Given the description of an element on the screen output the (x, y) to click on. 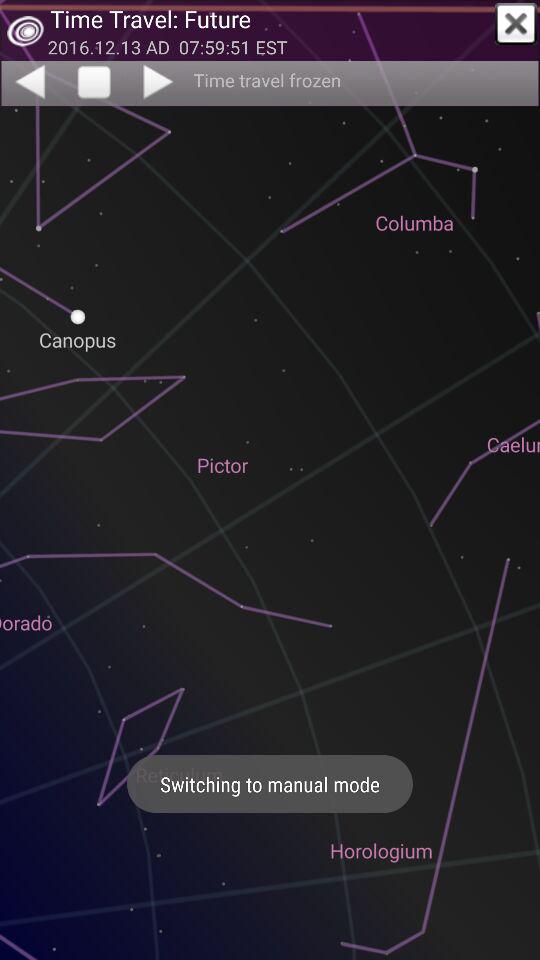
move to forward (160, 81)
